Given the description of an element on the screen output the (x, y) to click on. 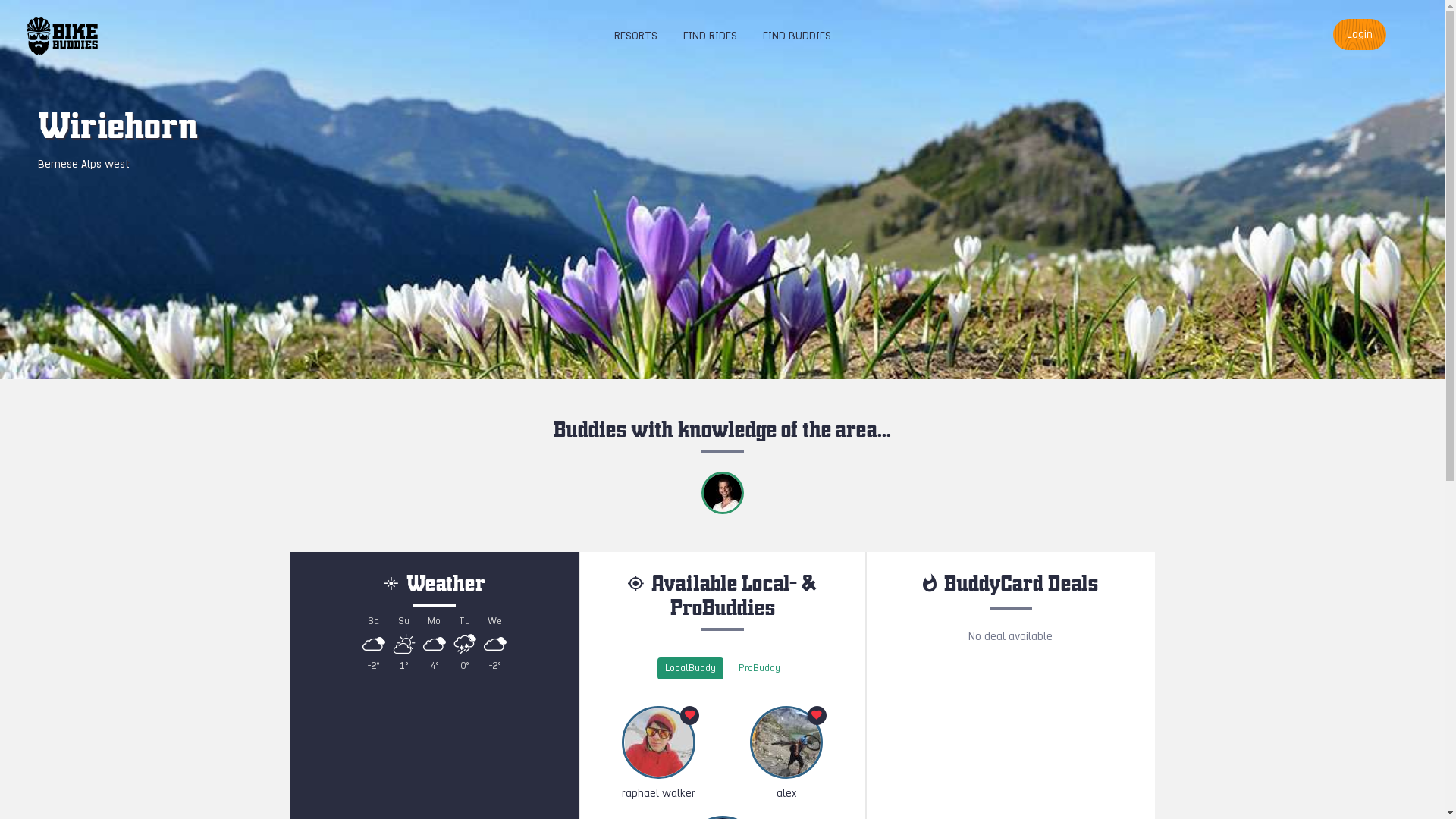
FIND RIDES Element type: text (709, 35)
LocalBuddy Element type: text (689, 668)
ProBuddy Element type: text (759, 668)
raphael walker Element type: text (658, 753)
Login Element type: text (1359, 34)
RESORTS Element type: text (635, 35)
FIND BUDDIES Element type: text (795, 35)
alex Element type: text (785, 753)
